Given the description of an element on the screen output the (x, y) to click on. 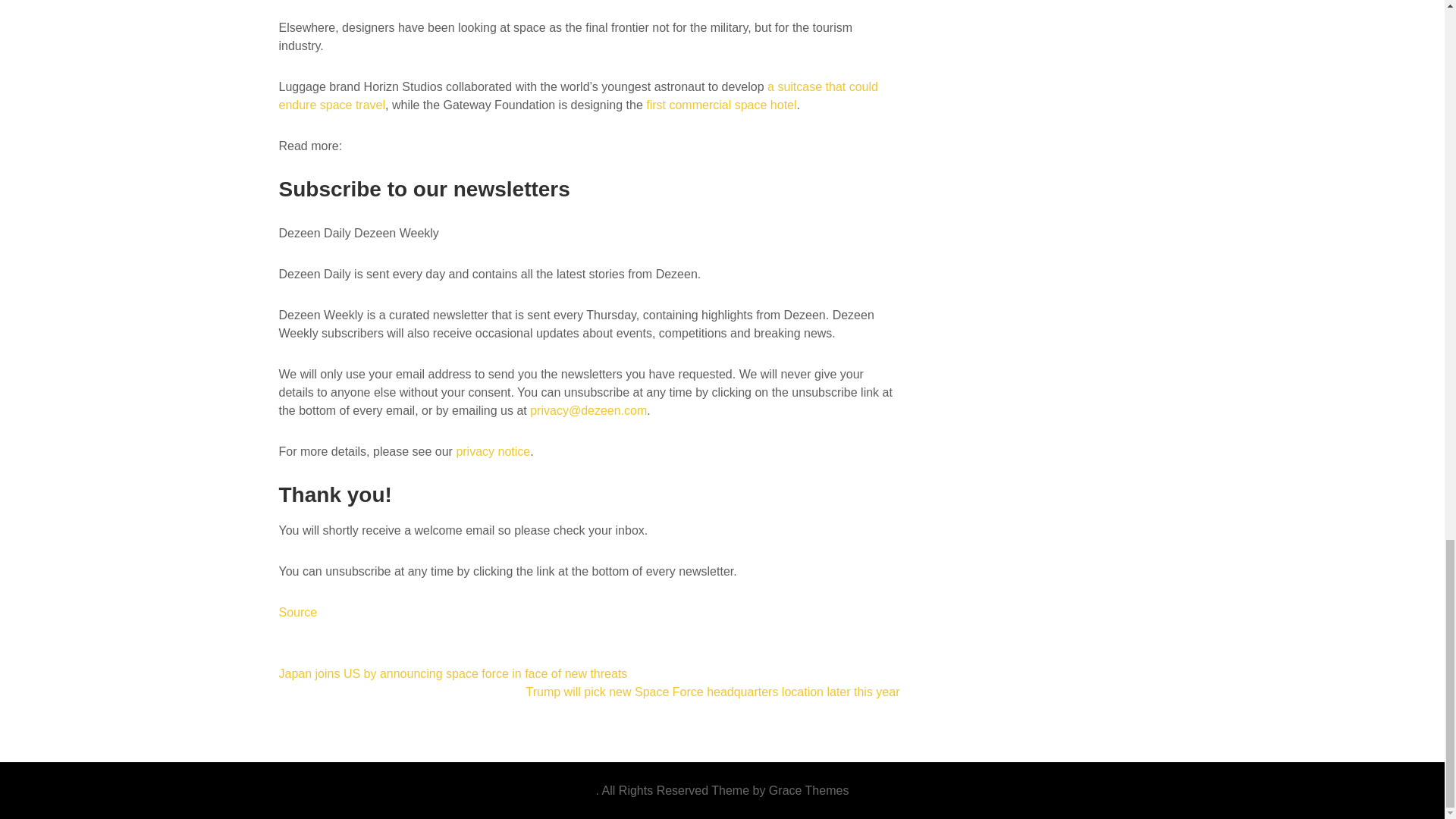
Source (298, 612)
first commercial space hotel (721, 104)
privacy notice (492, 451)
a suitcase that could endure space travel (578, 95)
